Given the description of an element on the screen output the (x, y) to click on. 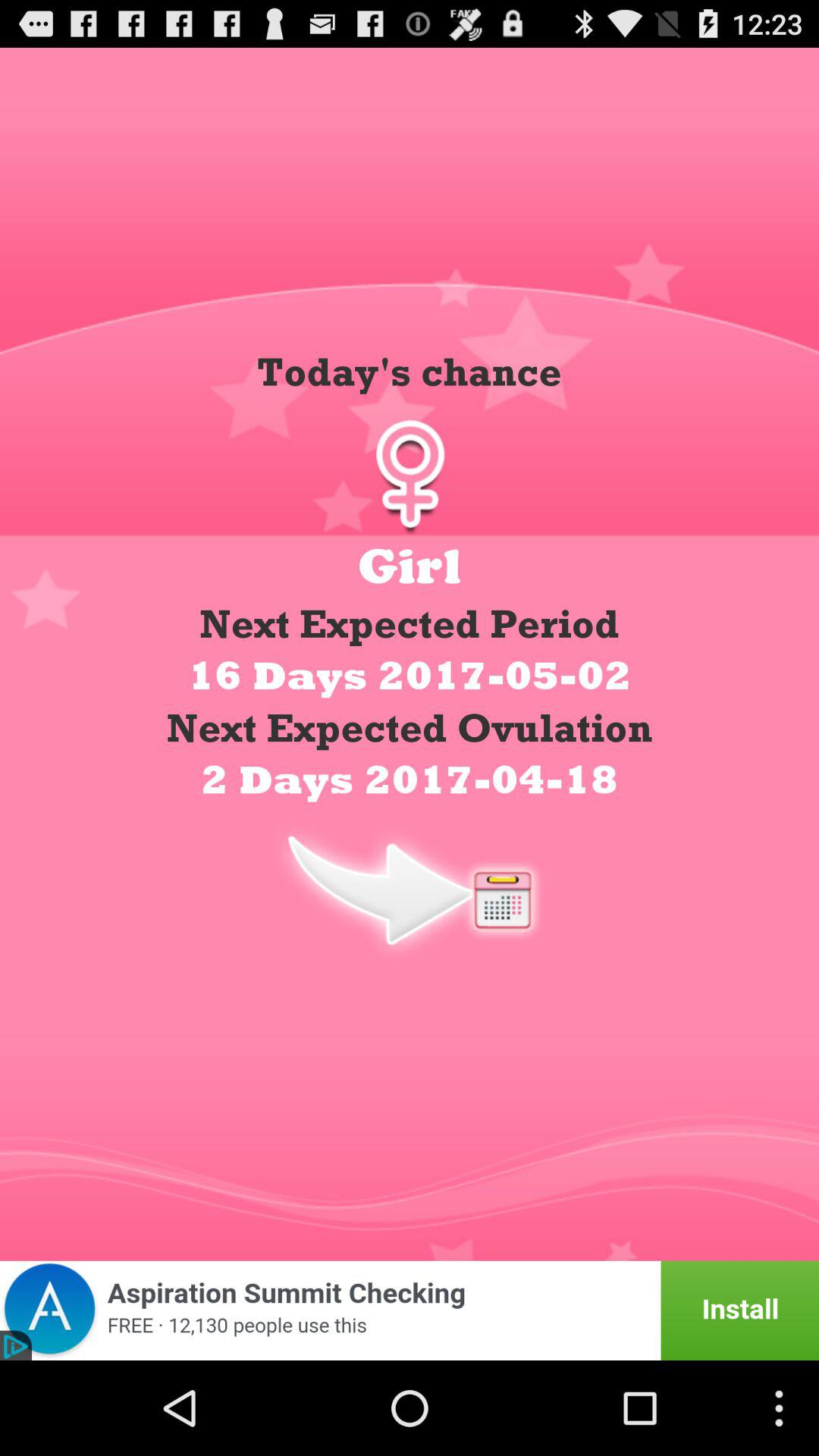
advertisement (409, 1310)
